Given the description of an element on the screen output the (x, y) to click on. 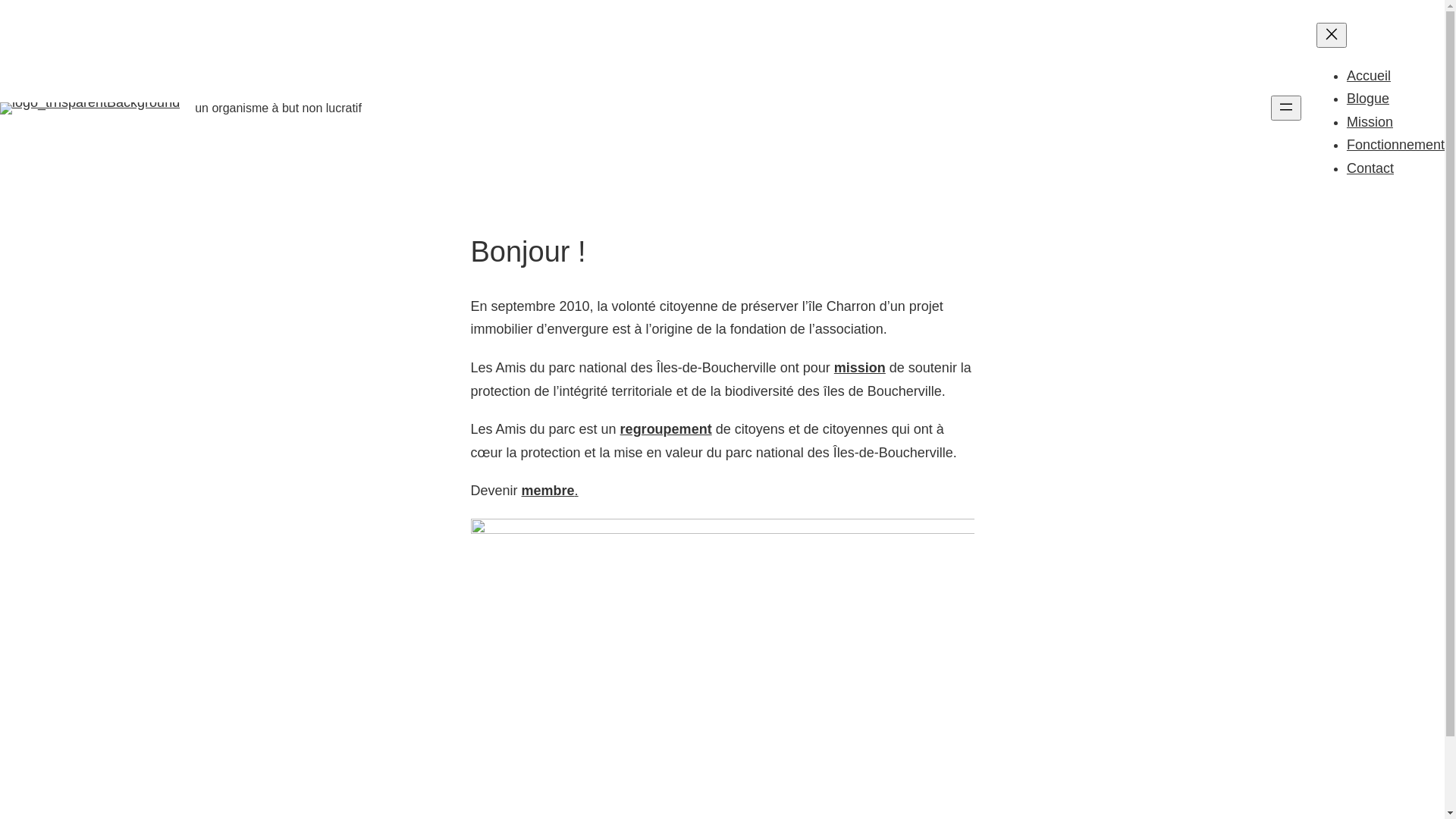
membre Element type: text (547, 490)
mission Element type: text (859, 367)
Fonctionnement Element type: text (1395, 144)
Blogue Element type: text (1367, 98)
Mission Element type: text (1369, 121)
Contact Element type: text (1369, 167)
regroupement Element type: text (666, 428)
. Element type: text (576, 490)
Accueil Element type: text (1368, 75)
